Given the description of an element on the screen output the (x, y) to click on. 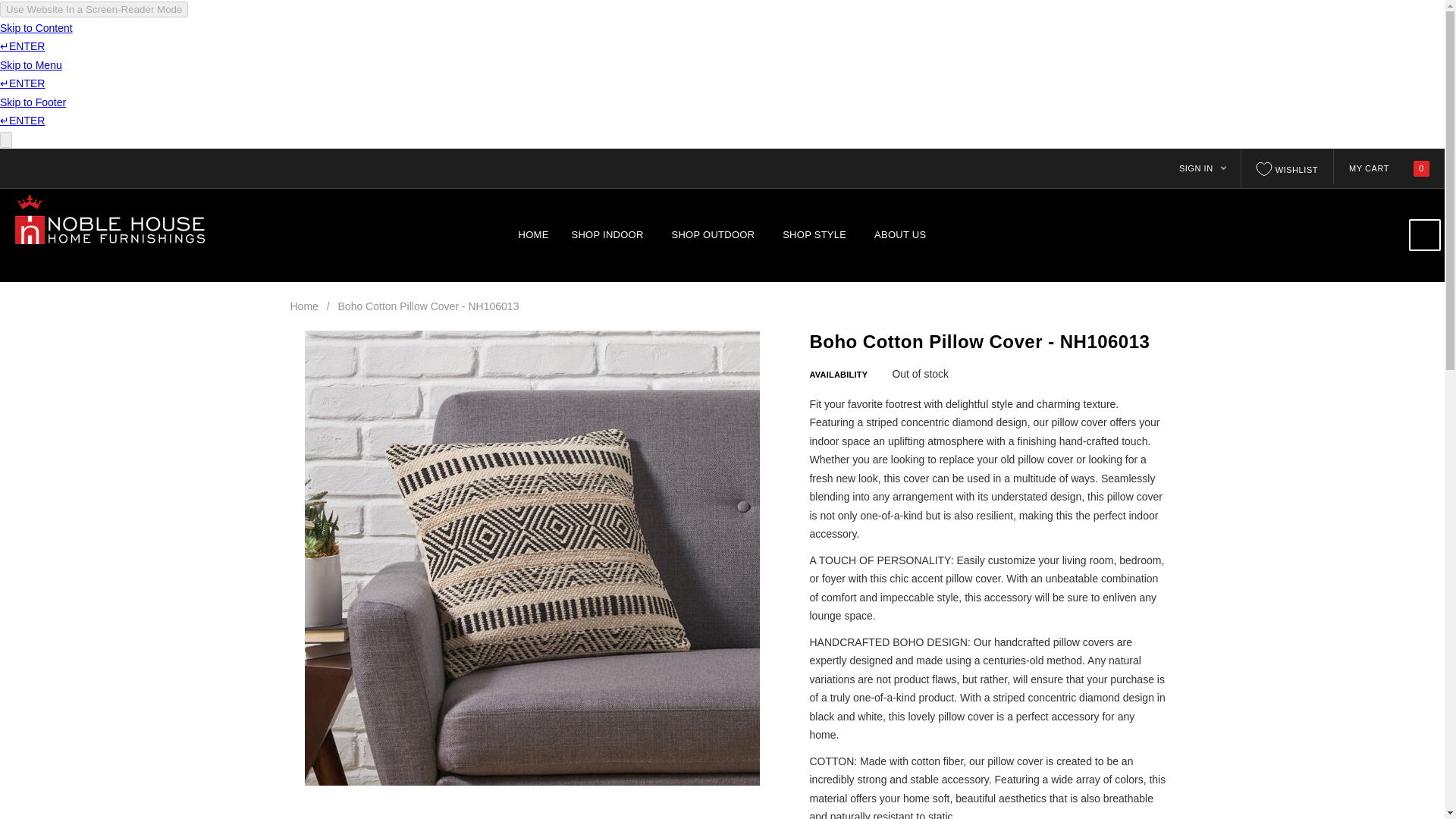
View Wishlist (1287, 167)
